Given the description of an element on the screen output the (x, y) to click on. 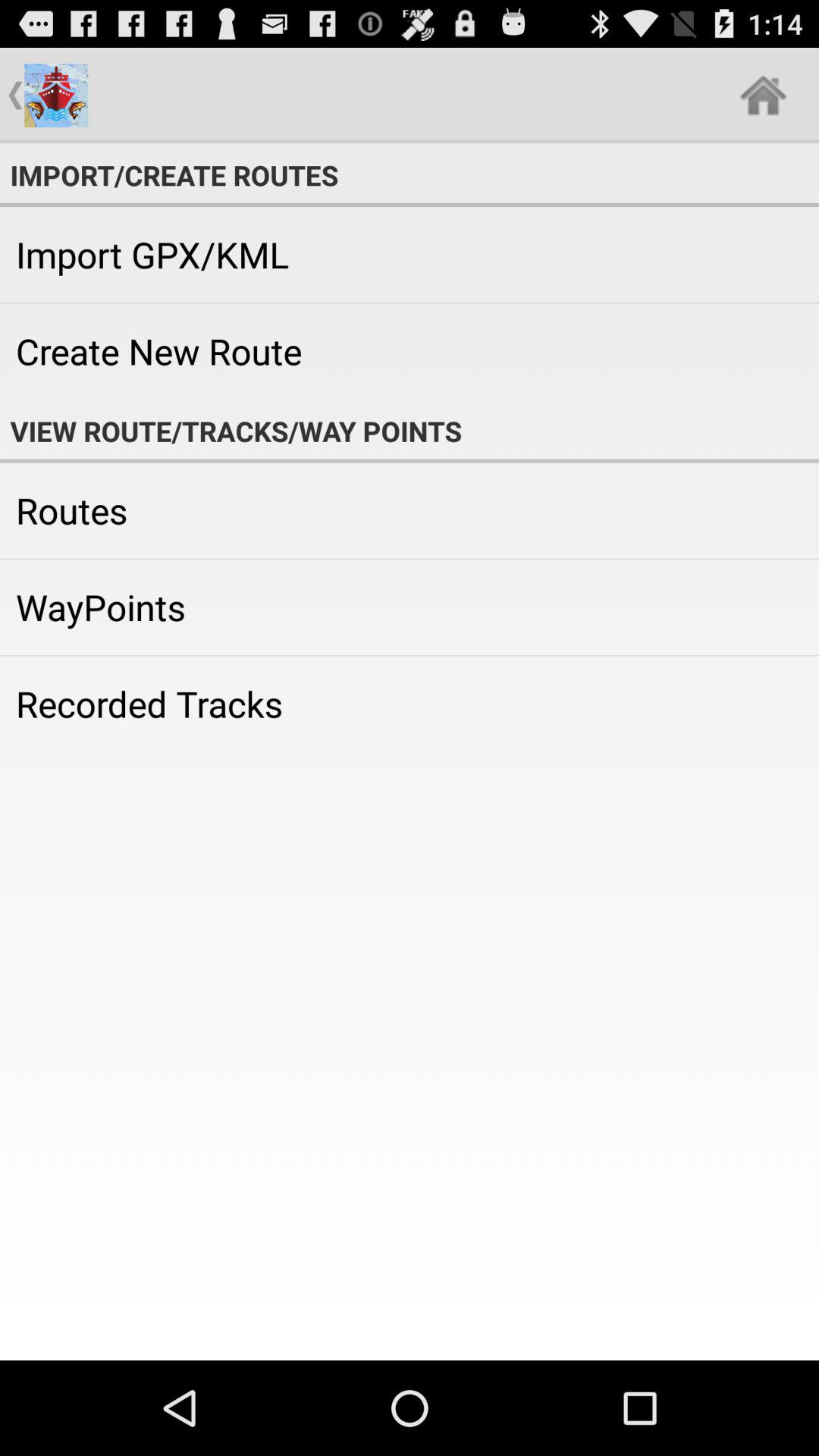
flip until waypoints item (409, 607)
